Given the description of an element on the screen output the (x, y) to click on. 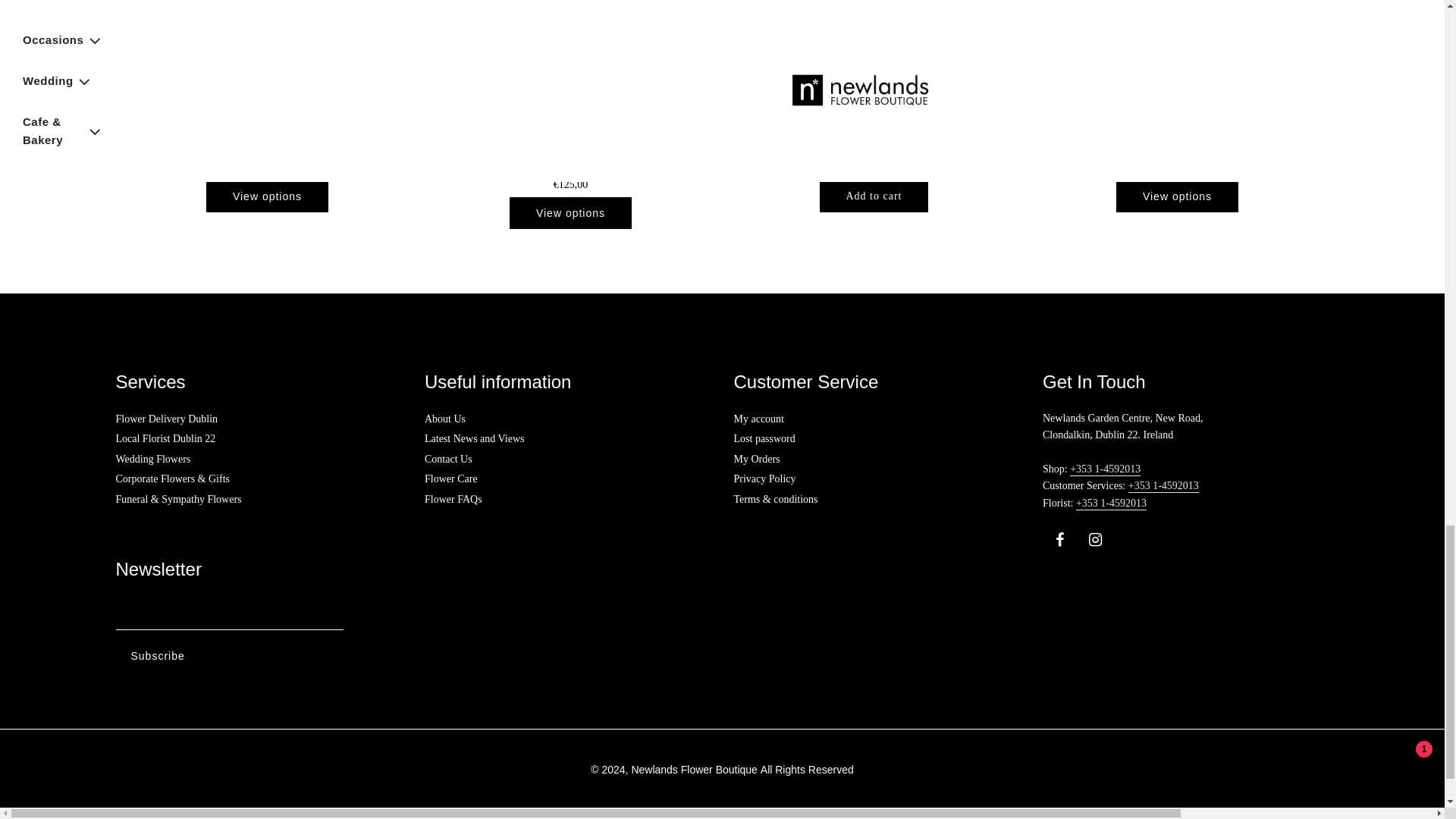
Subscribe (157, 656)
Arrangement made with the finest flowers (267, 58)
Arrangement made with the finest flowers (873, 58)
White Rose and Lily Bouquet (1176, 58)
